Given the description of an element on the screen output the (x, y) to click on. 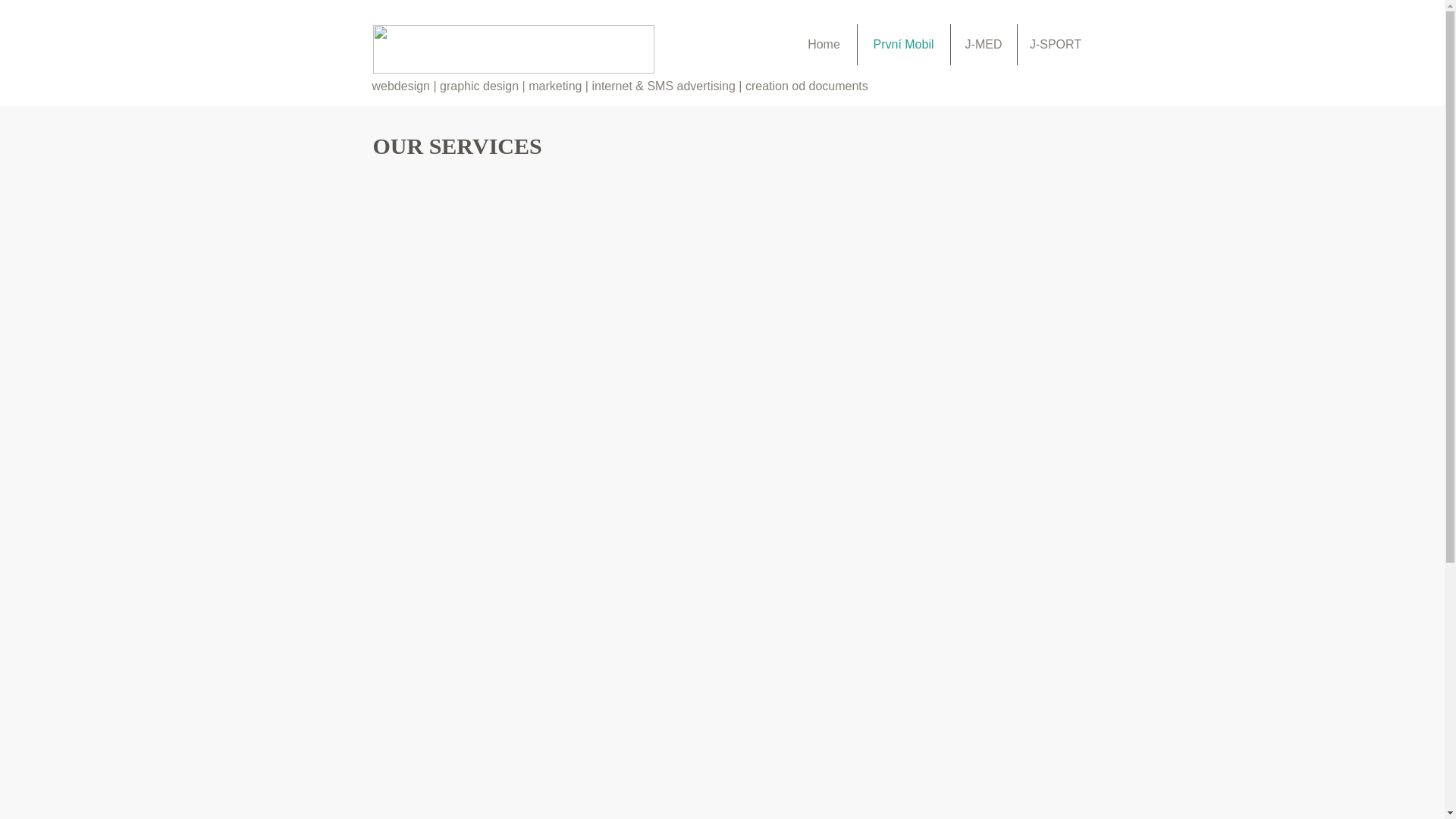
J-MED (983, 44)
J-SPORT (1055, 44)
creation od documents (806, 85)
marketing (554, 85)
graphic (459, 85)
webdesign (400, 85)
Home (824, 44)
